Given the description of an element on the screen output the (x, y) to click on. 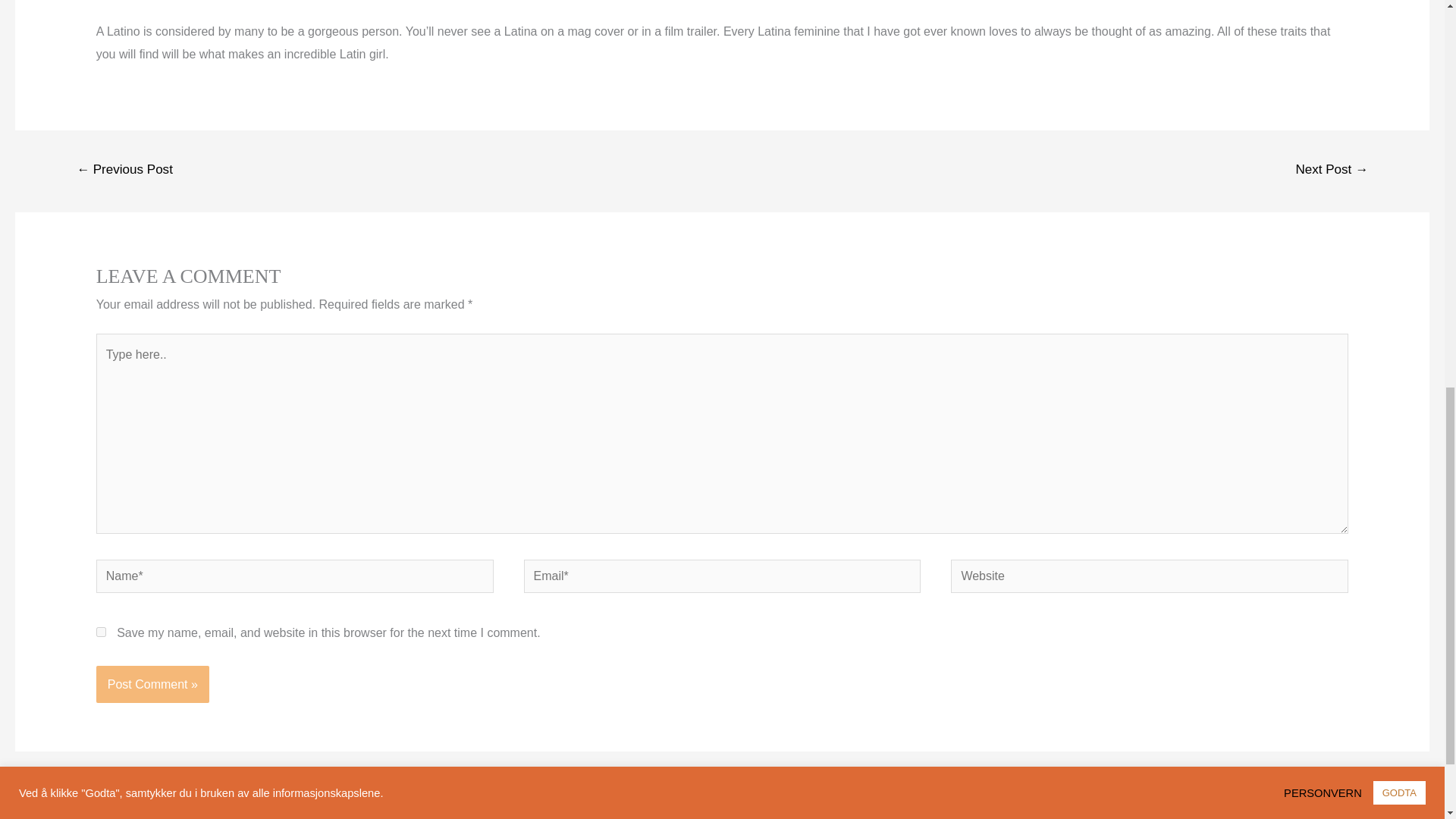
yes (101, 632)
TIMEBESTILLING (755, 813)
KONTAKT (1049, 813)
COVID-19 (969, 813)
PERSONVERN (873, 813)
PRIS (550, 813)
OM MEG (391, 813)
TJENESTER (477, 813)
